Given the description of an element on the screen output the (x, y) to click on. 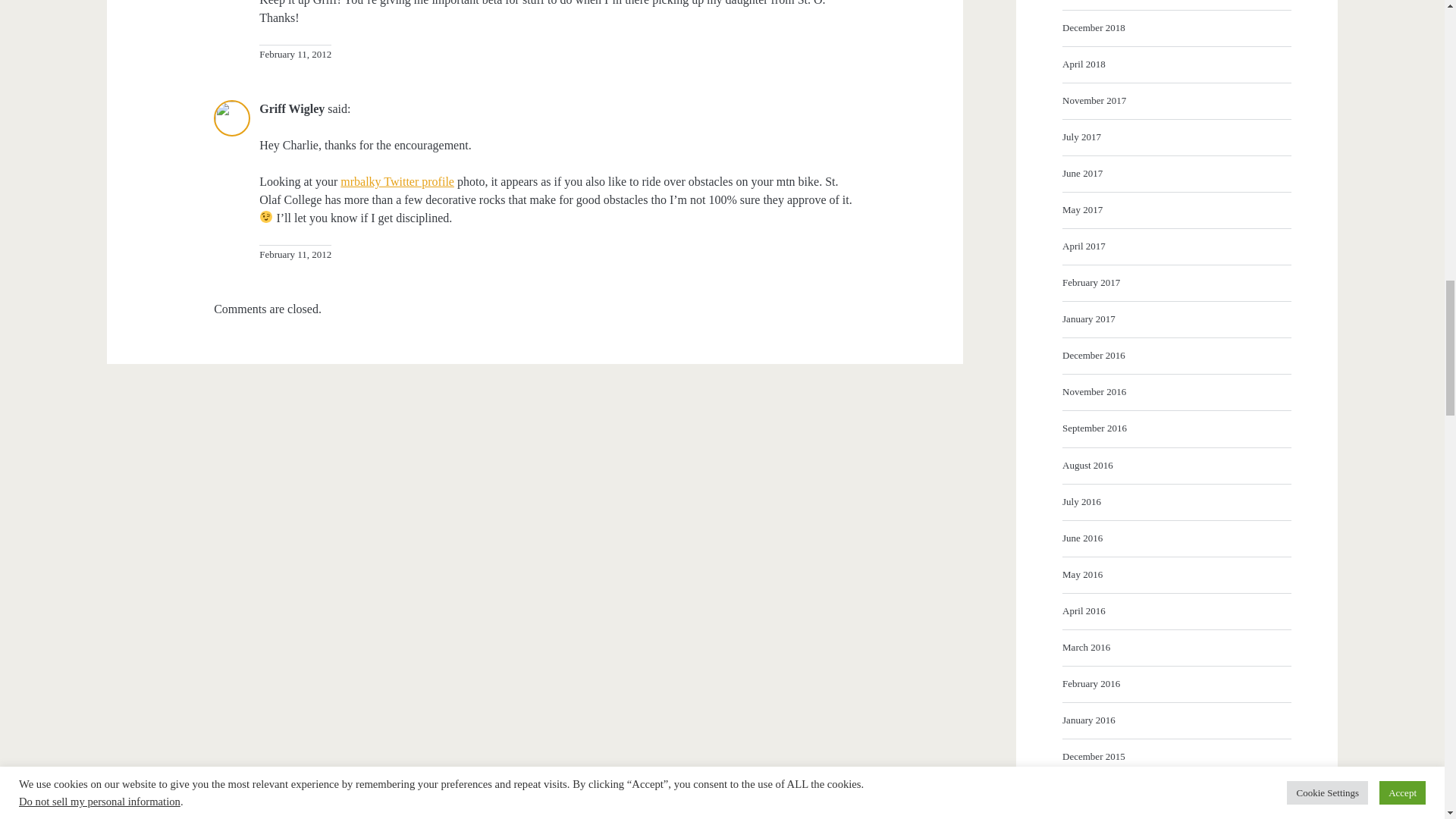
mrbalky Twitter profile (397, 181)
